Given the description of an element on the screen output the (x, y) to click on. 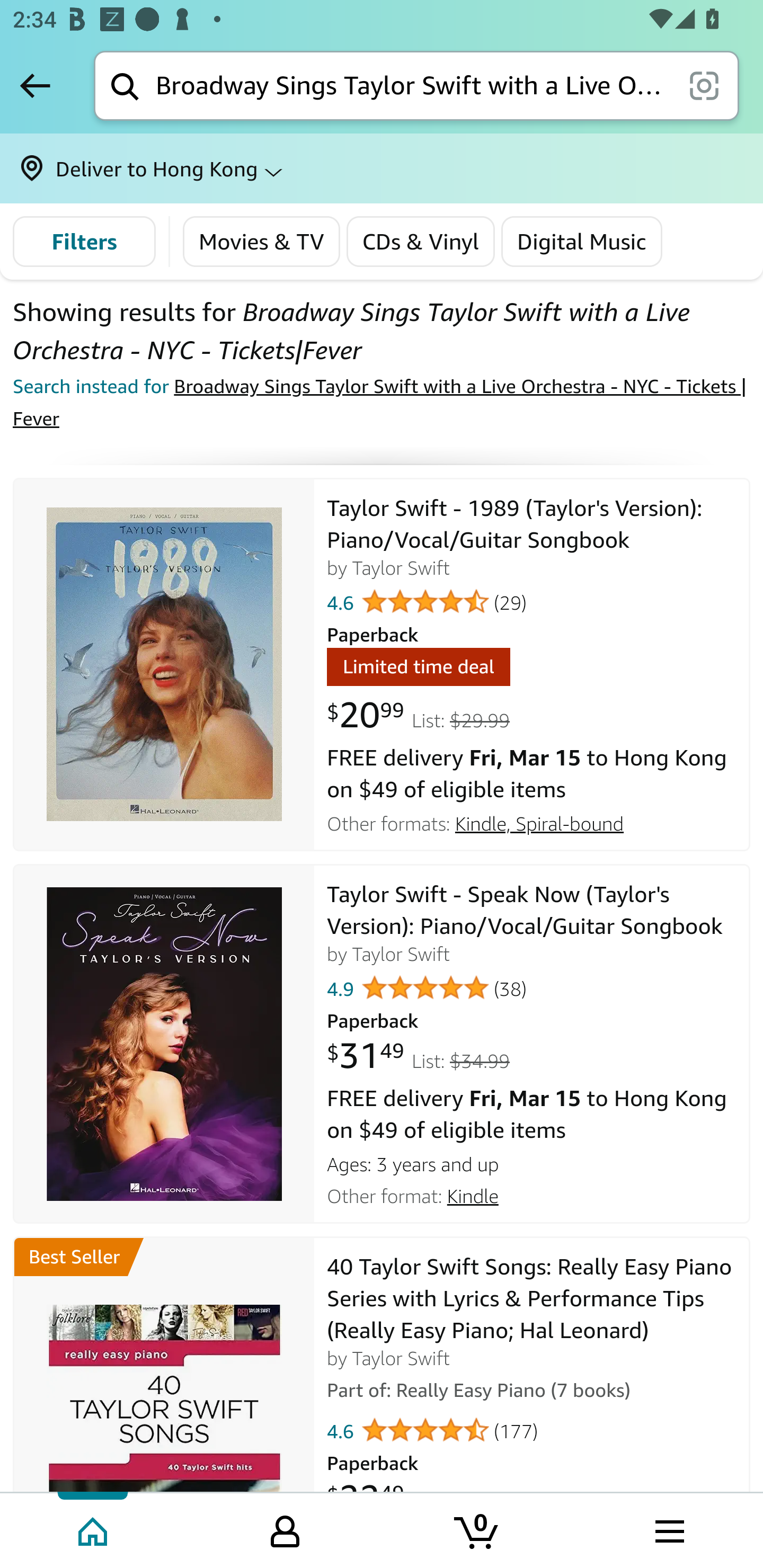
Back (35, 85)
scan it (704, 85)
Deliver to Hong Kong ⌵ (381, 168)
Filters (83, 241)
Movies & TV (261, 241)
CDs & Vinyl (419, 241)
Digital Music (581, 241)
Limited time deal (417, 669)
Ages: 3 years and up (532, 1162)
Home Tab 1 of 4 (94, 1529)
Your Amazon.com Tab 2 of 4 (285, 1529)
Cart 0 item Tab 3 of 4 0 (477, 1529)
Browse menu Tab 4 of 4 (668, 1529)
